Given the description of an element on the screen output the (x, y) to click on. 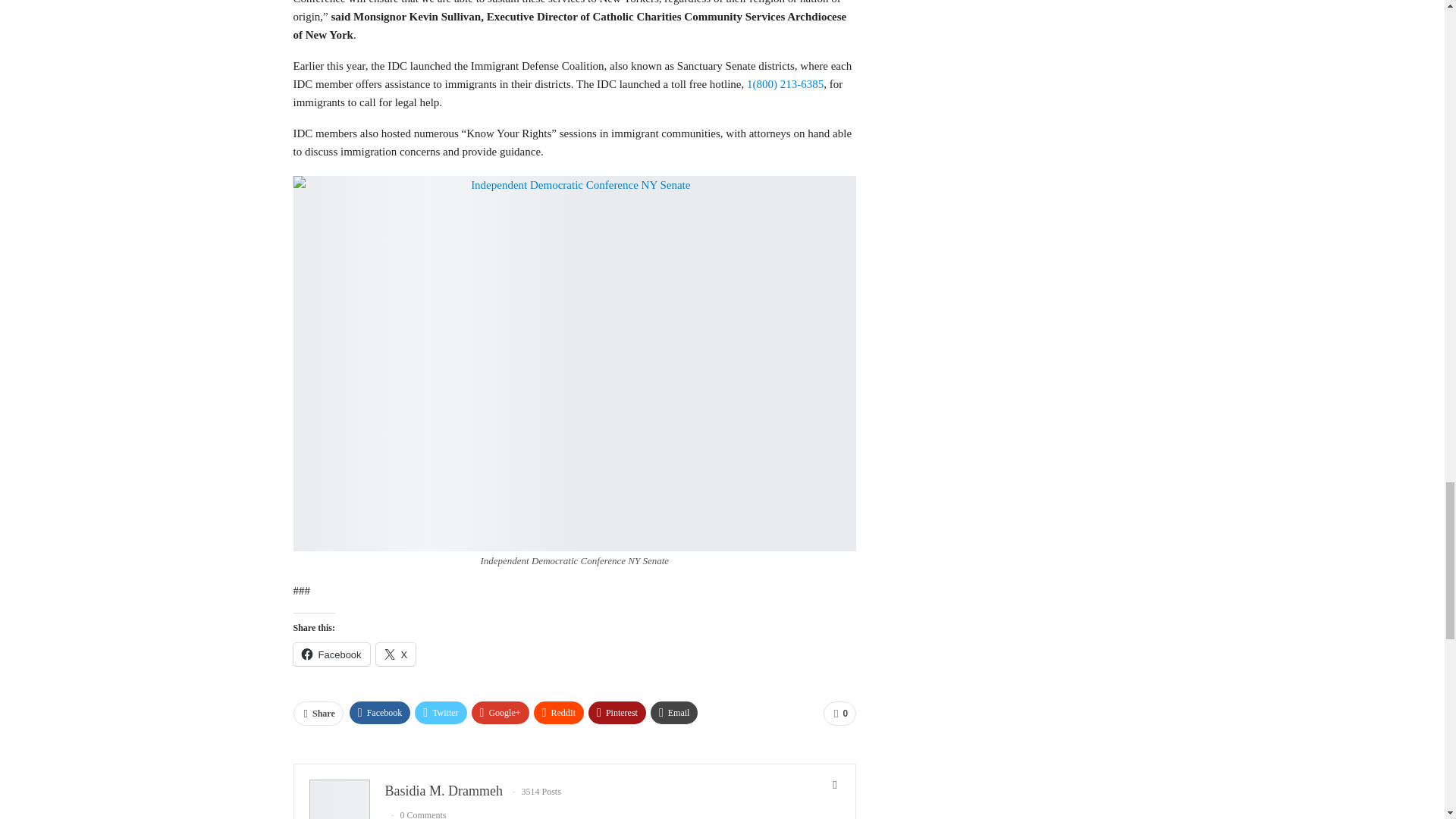
Click to share on Facebook (330, 653)
Facebook (330, 653)
X (395, 653)
Click to share on X (395, 653)
